Given the description of an element on the screen output the (x, y) to click on. 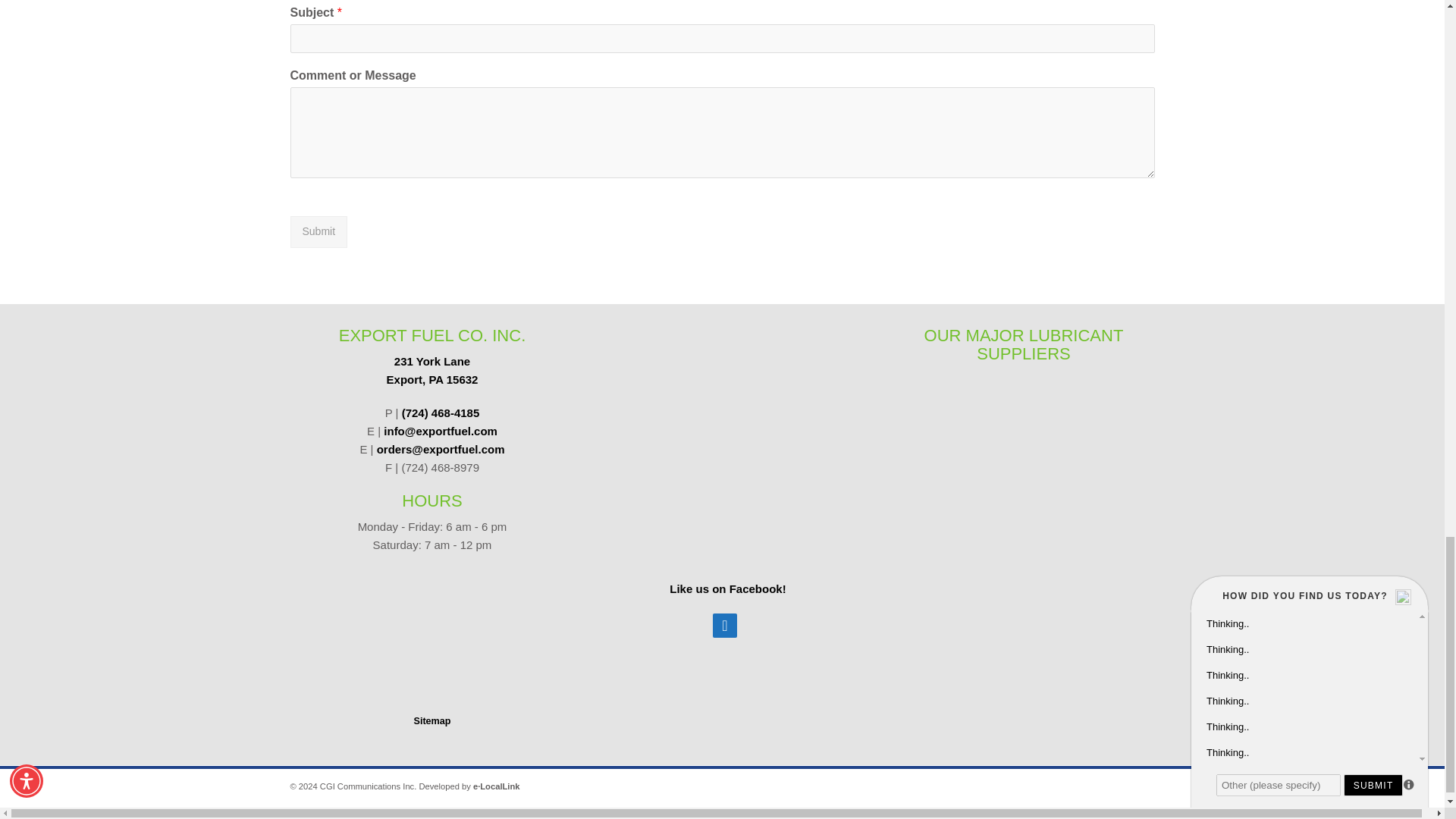
Sitemap (433, 369)
Like us on Facebook! (431, 720)
Submit (727, 588)
Facebook (318, 232)
